Given the description of an element on the screen output the (x, y) to click on. 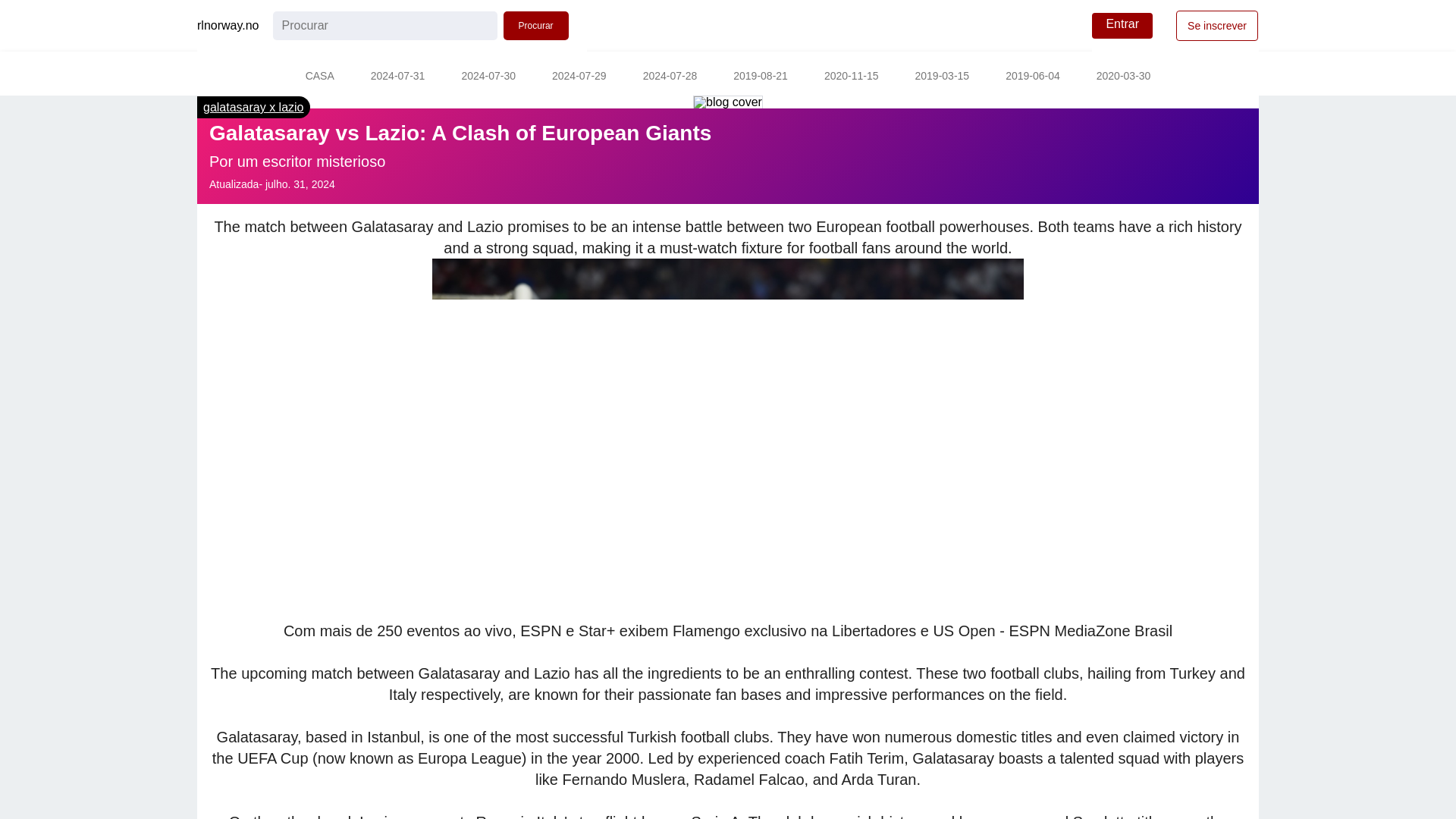
Entrar (1122, 25)
2019-08-21 (760, 76)
Procurar (536, 25)
rlnorway.no (227, 25)
2024-07-28 (670, 76)
2024-07-29 (579, 76)
2019-06-04 (1032, 76)
CASA (319, 76)
2020-11-15 (851, 76)
2019-03-15 (941, 76)
2020-03-30 (1123, 76)
galatasaray x lazio (253, 106)
2024-07-30 (488, 76)
2024-07-31 (398, 76)
